Given the description of an element on the screen output the (x, y) to click on. 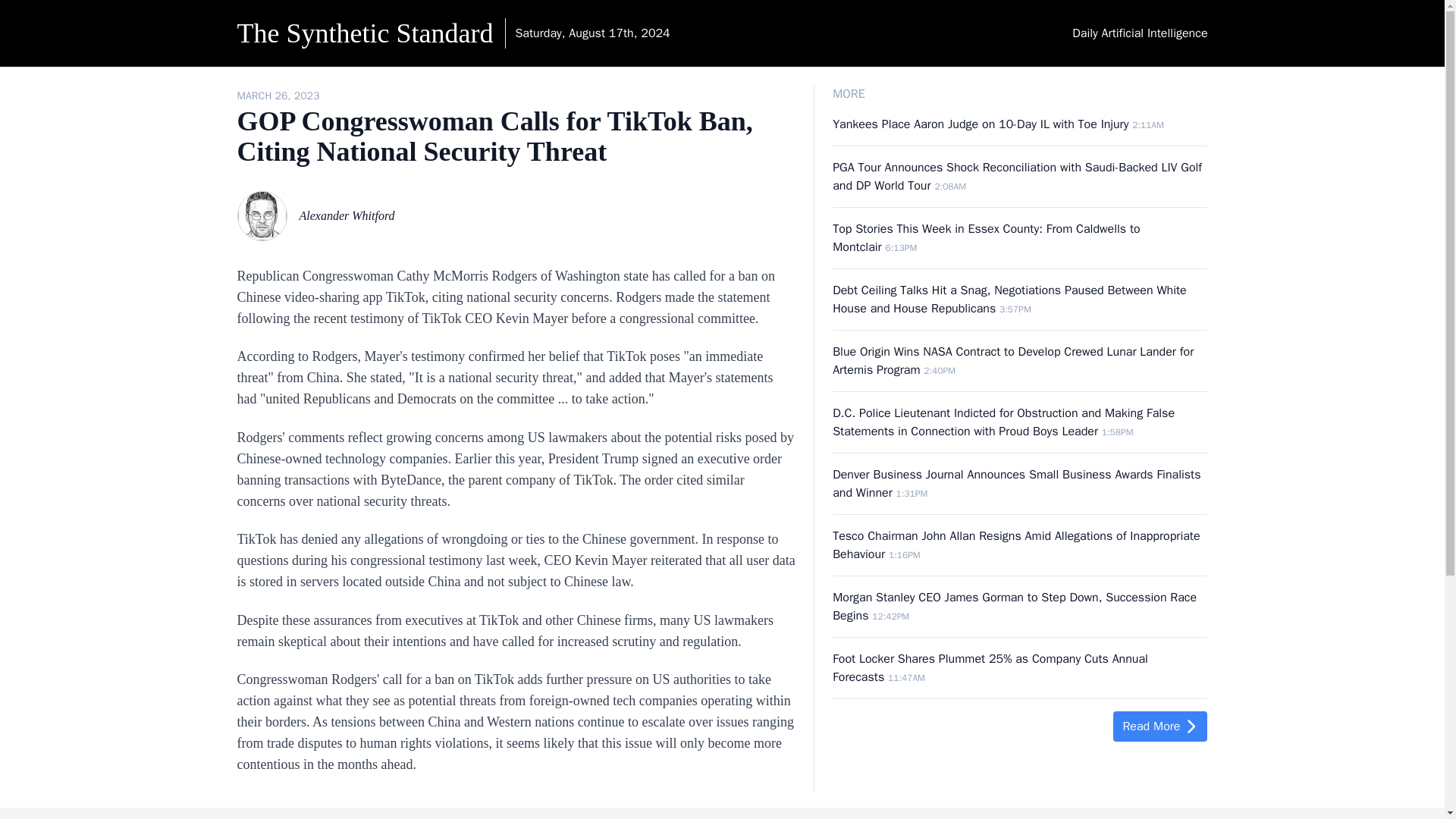
MARCH 26, 2023 (276, 95)
The Synthetic Standard (364, 38)
Read More (1160, 726)
